Given the description of an element on the screen output the (x, y) to click on. 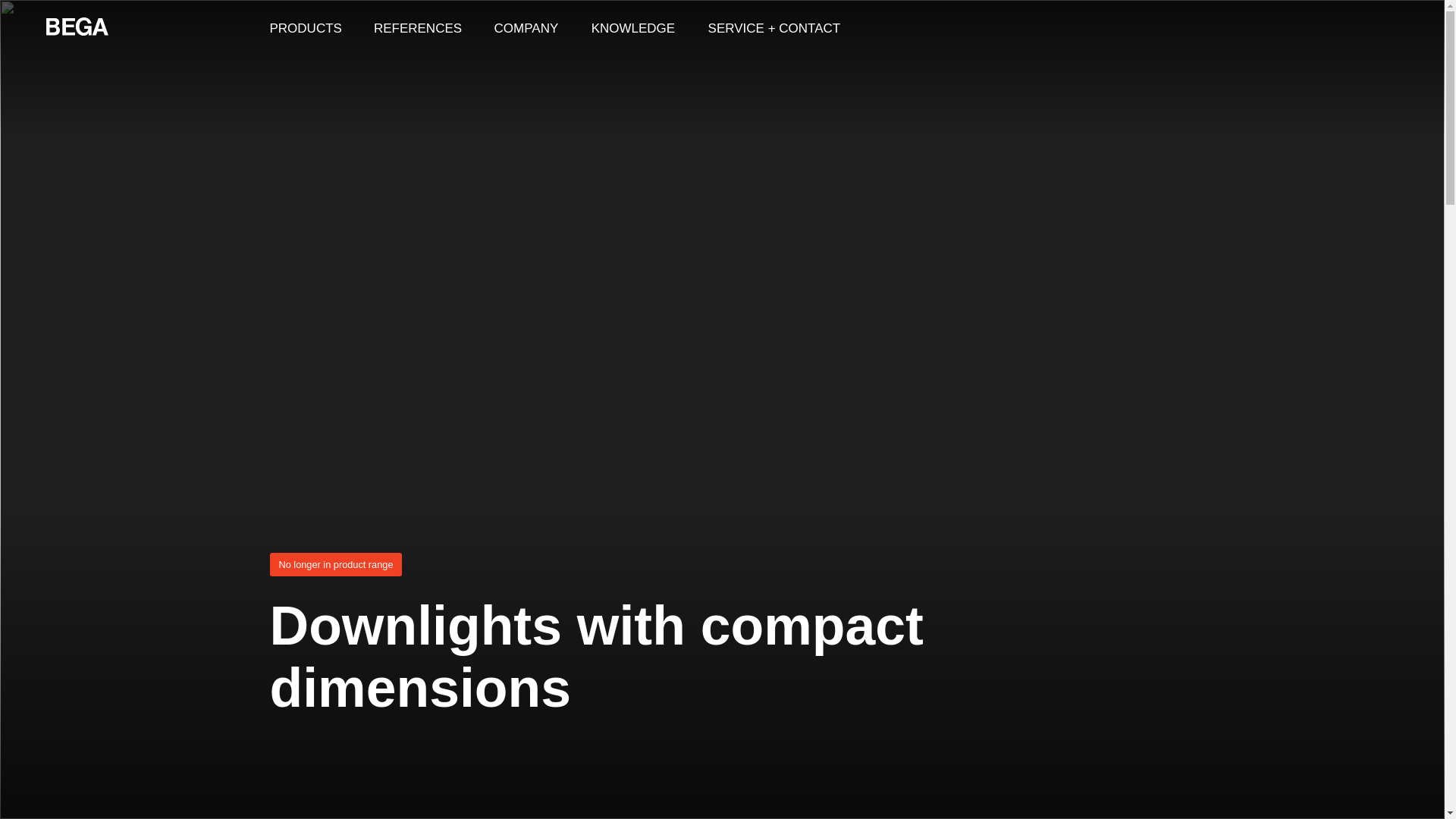
Company (526, 27)
KNOWLEDGE (633, 27)
REFERENCES (417, 27)
COMPANY (526, 27)
References (417, 27)
Knowledge (633, 27)
Products (304, 27)
PRODUCTS (304, 27)
